Given the description of an element on the screen output the (x, y) to click on. 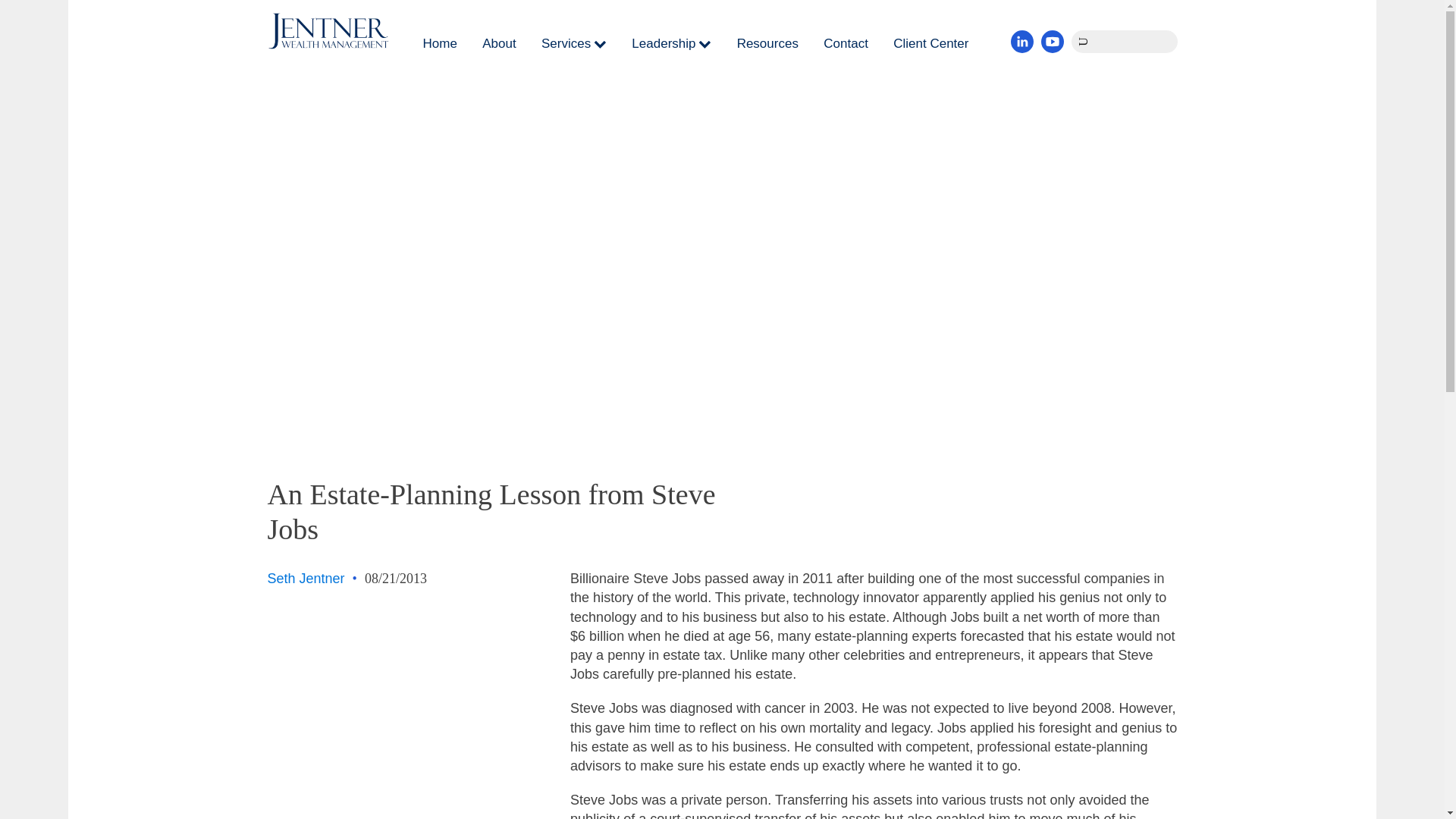
Contact (845, 44)
Seth Jentner (304, 578)
U (1084, 39)
U (1084, 39)
Services (574, 44)
Client Center (930, 44)
Leadership (671, 44)
Resources (766, 44)
Home (440, 44)
About (498, 44)
